Given the description of an element on the screen output the (x, y) to click on. 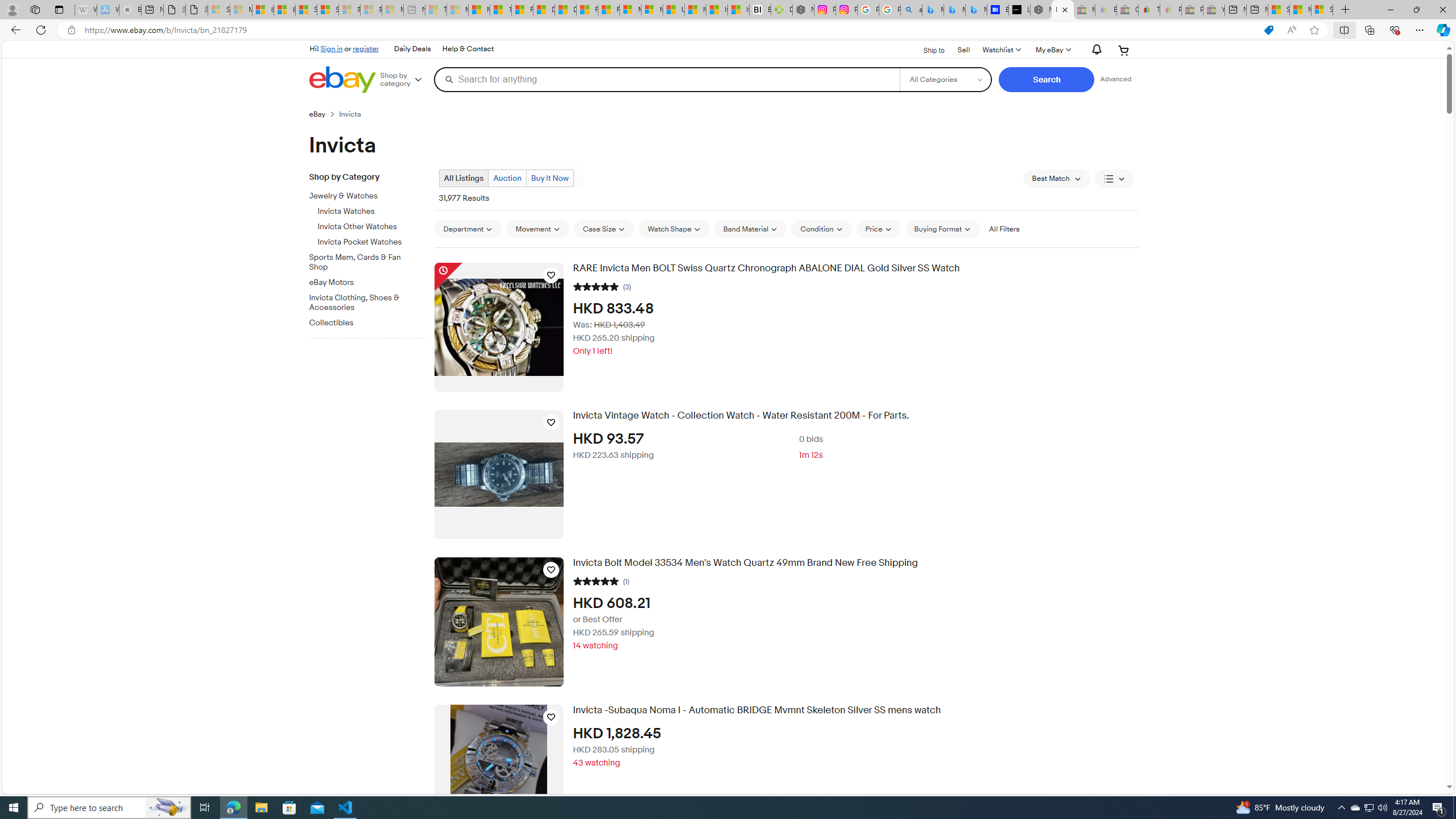
eBay (317, 113)
Watchlist (1000, 49)
Ship to (926, 50)
Top Stories - MSN - Sleeping (435, 9)
